Given the description of an element on the screen output the (x, y) to click on. 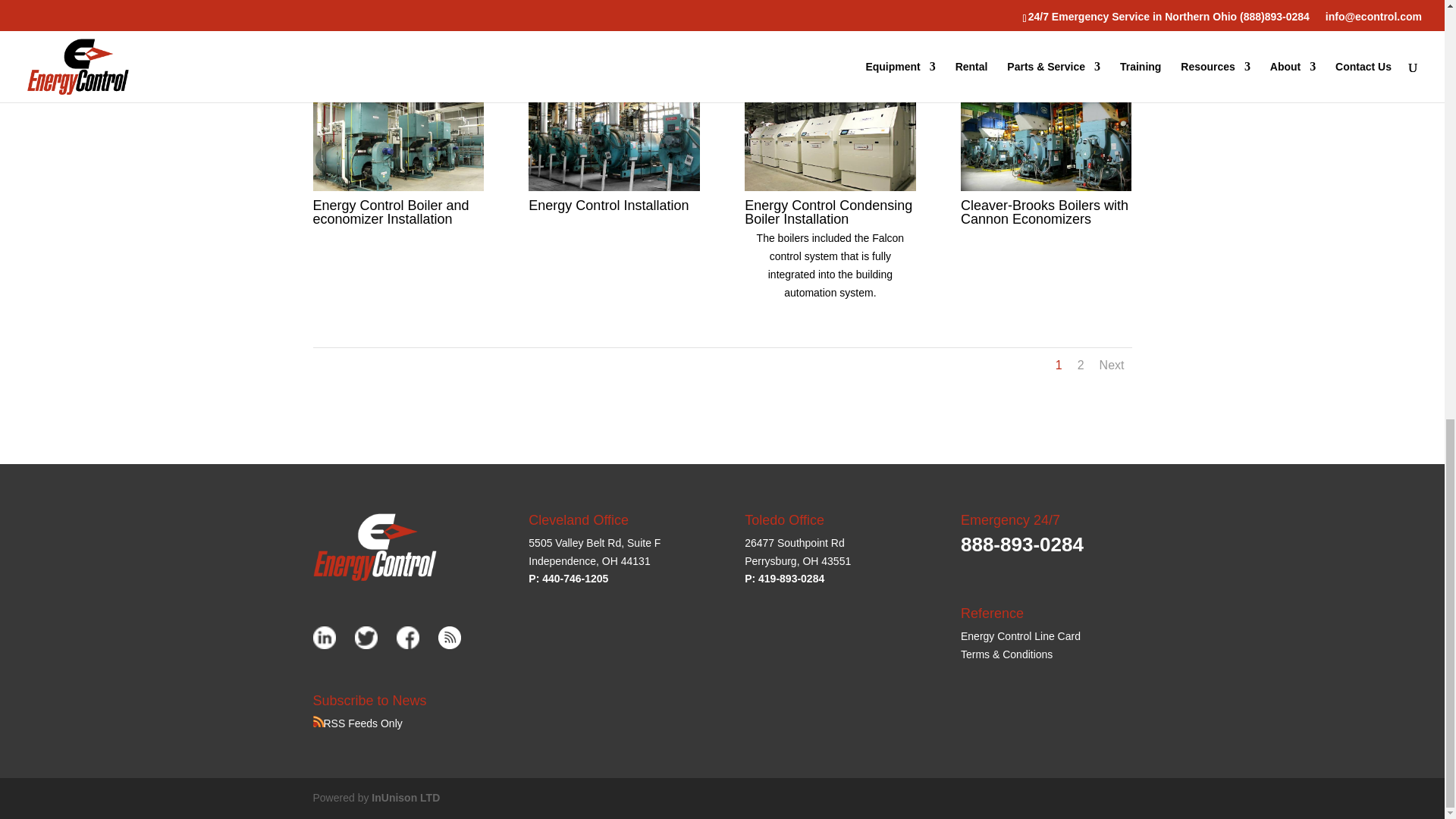
CleaverBrooks FT Boilers w Economizers (829, 8)
Firetube Boiler Installation (613, 8)
Energy Control Boiler Feed and Pump Installation (398, 8)
Energy Control Burner Retrofit (1045, 8)
